Given the description of an element on the screen output the (x, y) to click on. 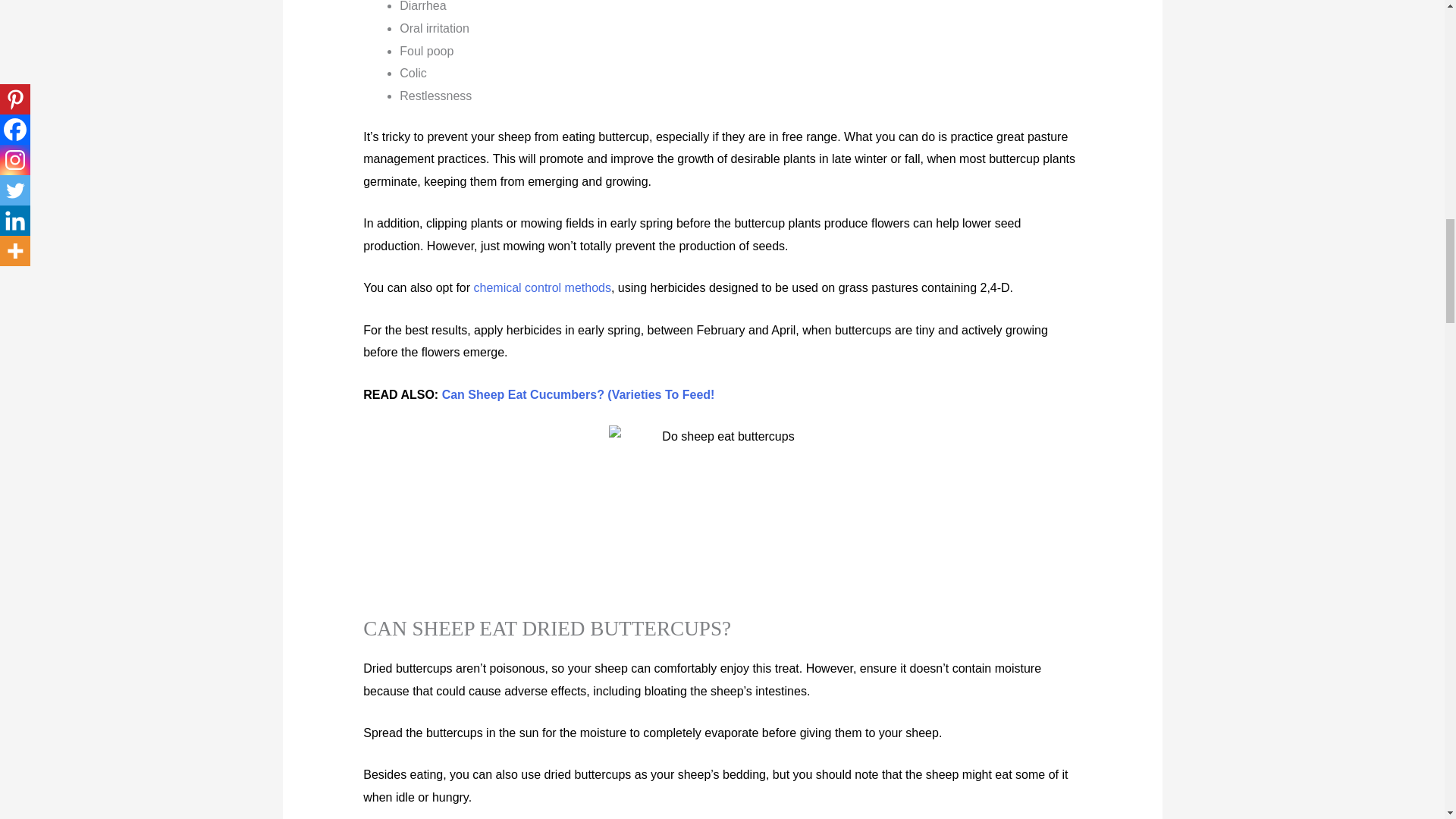
chemical control methods (542, 287)
